Given the description of an element on the screen output the (x, y) to click on. 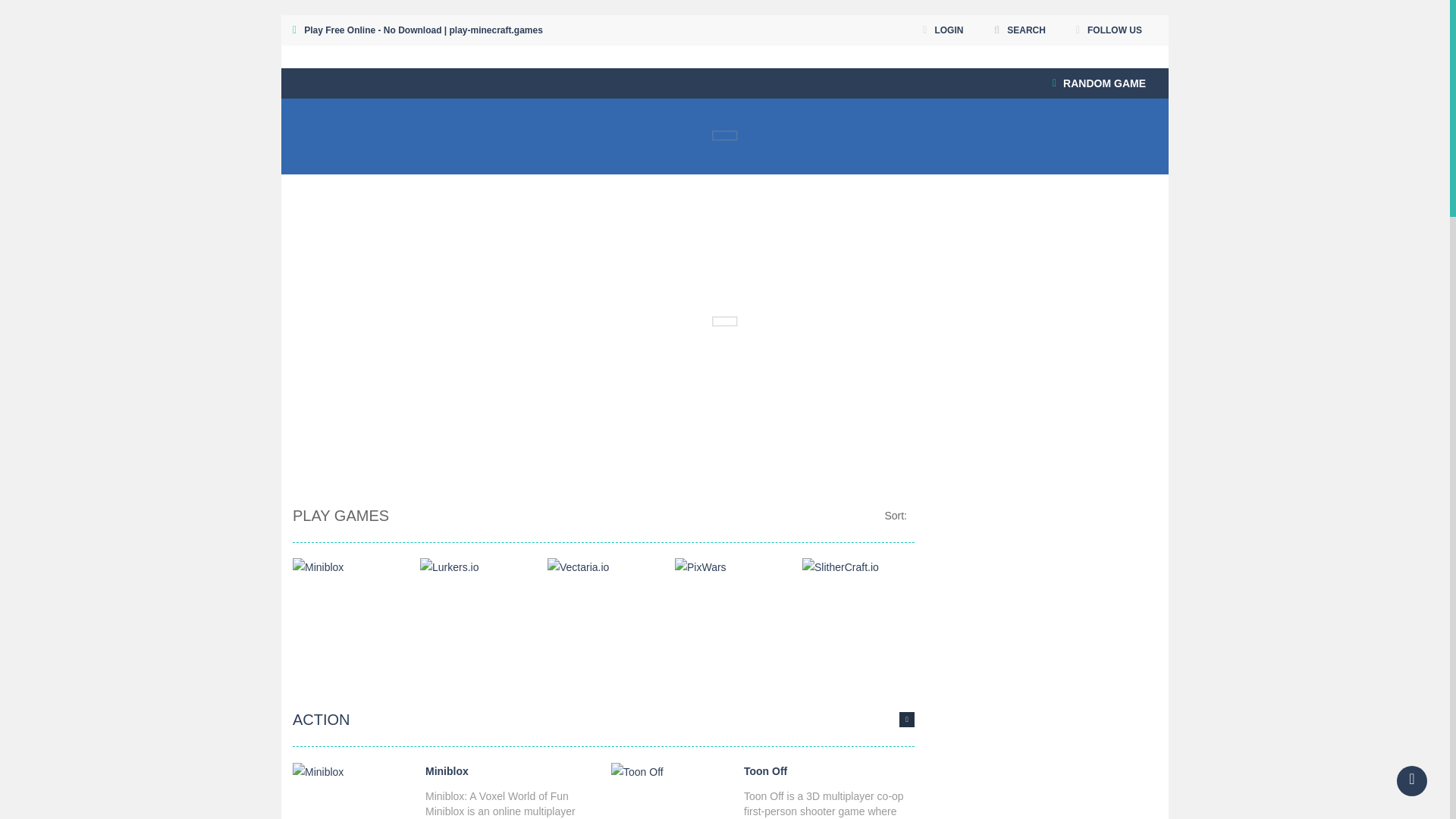
SEARCH (1019, 30)
LOGIN (942, 30)
RANDOM GAME (1099, 82)
Play a random game! (1099, 82)
FOLLOW US (1108, 30)
